Given the description of an element on the screen output the (x, y) to click on. 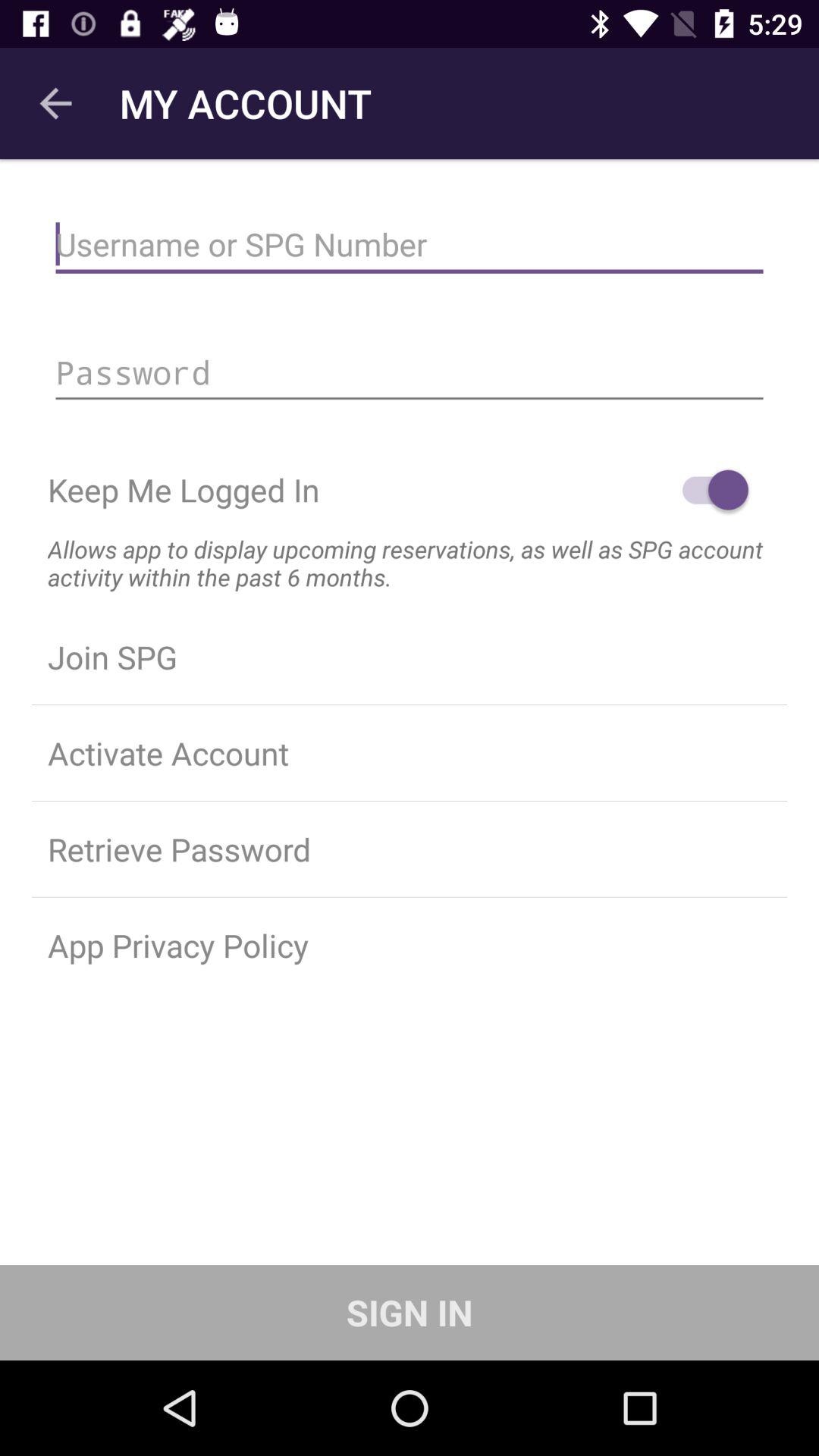
toggle username field (409, 244)
